Given the description of an element on the screen output the (x, y) to click on. 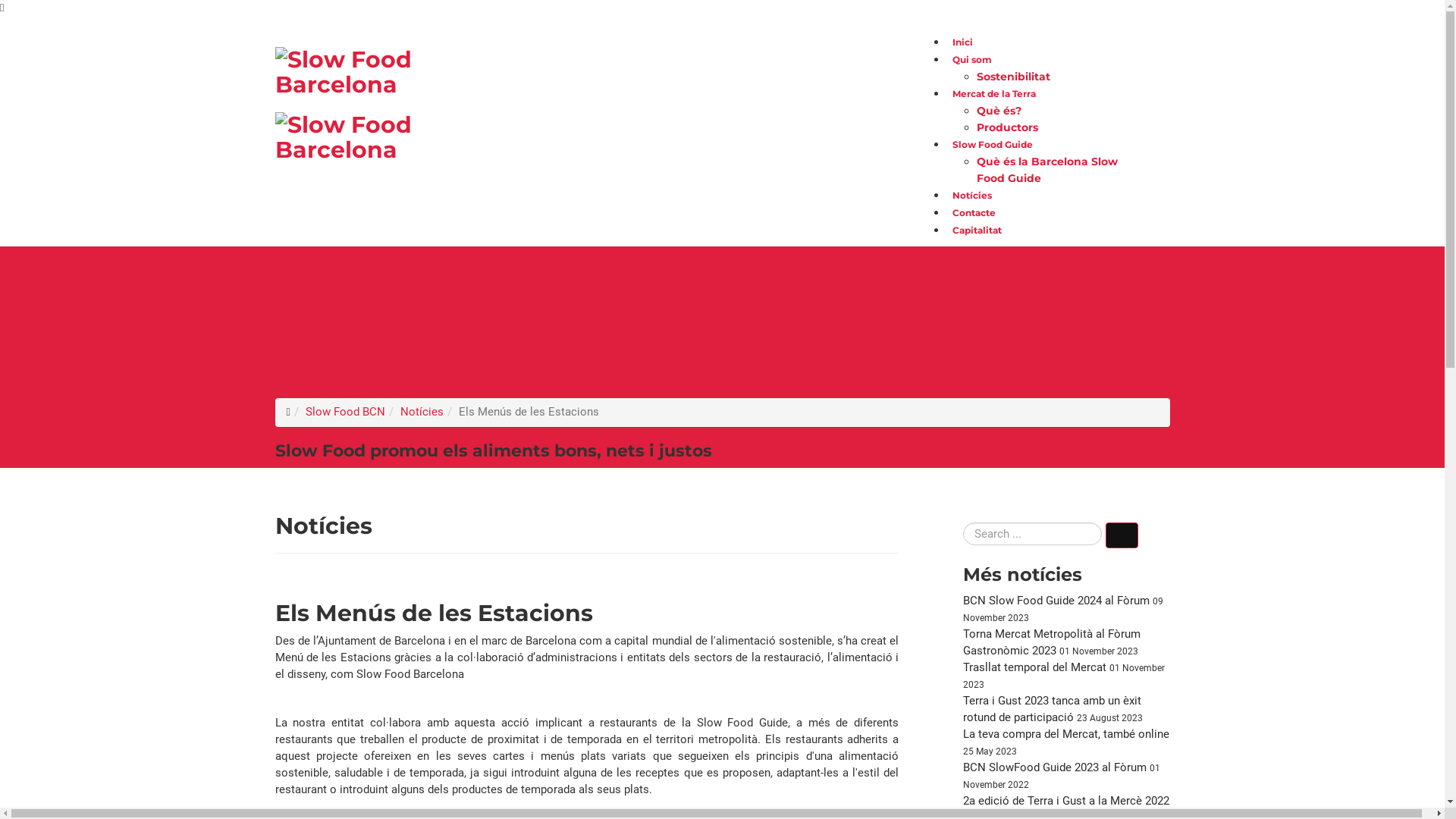
Search Element type: text (1121, 535)
Qui som Element type: text (971, 59)
Slow Food Guide Element type: text (992, 144)
Mercat de la Terra Element type: text (993, 93)
Sostenibilitat Element type: text (1013, 76)
Inici Element type: text (962, 41)
Contacte Element type: text (973, 212)
Capitalitat Element type: text (976, 229)
Slow Food BCN Element type: text (345, 411)
Trasllat temporal del Mercat Element type: text (1036, 667)
Productors Element type: text (1007, 127)
